Given the description of an element on the screen output the (x, y) to click on. 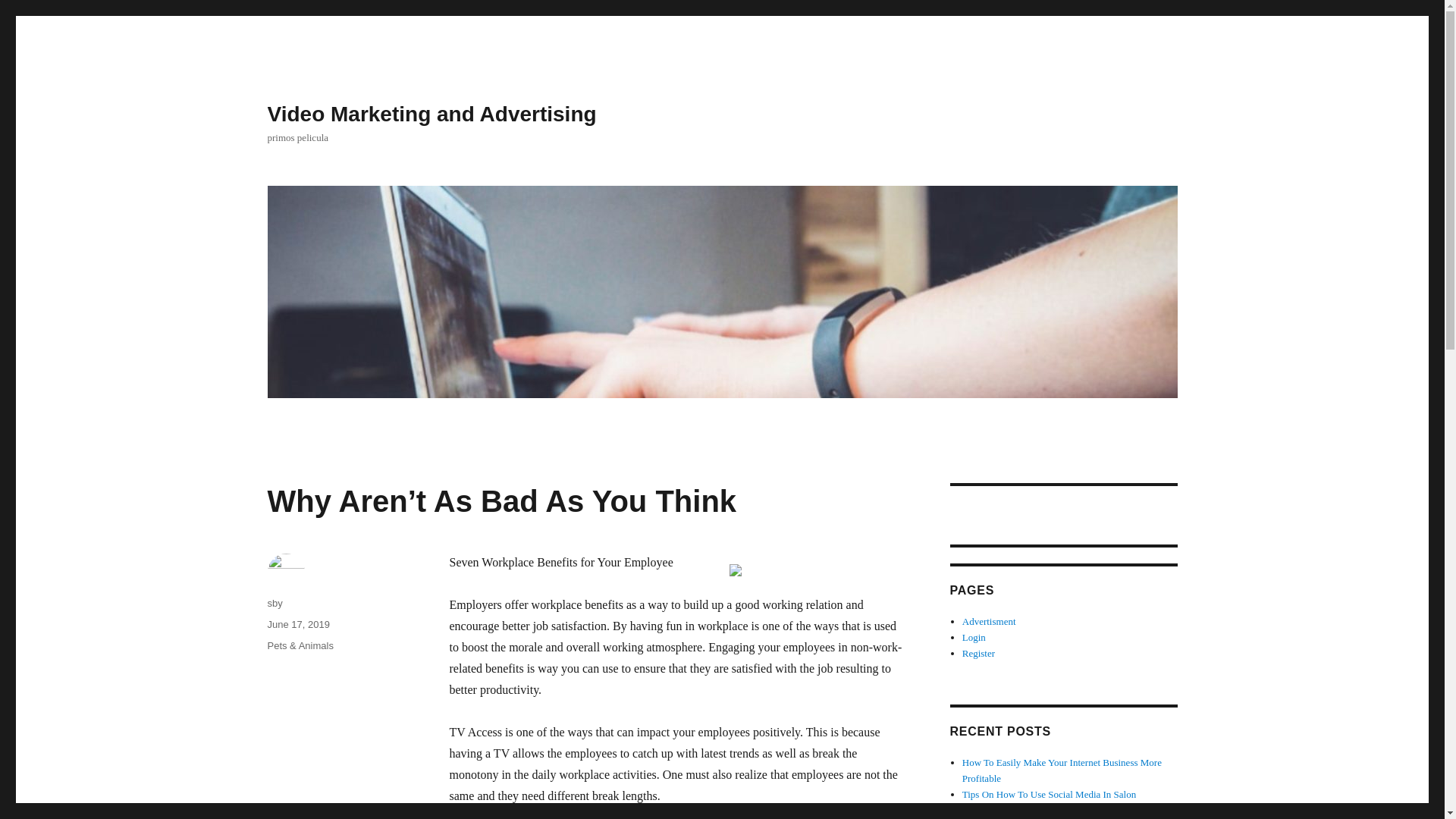
Login (973, 636)
Register (978, 653)
Advertisment (989, 621)
How To Easily Make Your Internet Business More Profitable (1061, 769)
Tips On How To Use Social Media In Salon Marketing (1048, 801)
sby (274, 603)
Video Marketing and Advertising (430, 114)
June 17, 2019 (297, 624)
